Given the description of an element on the screen output the (x, y) to click on. 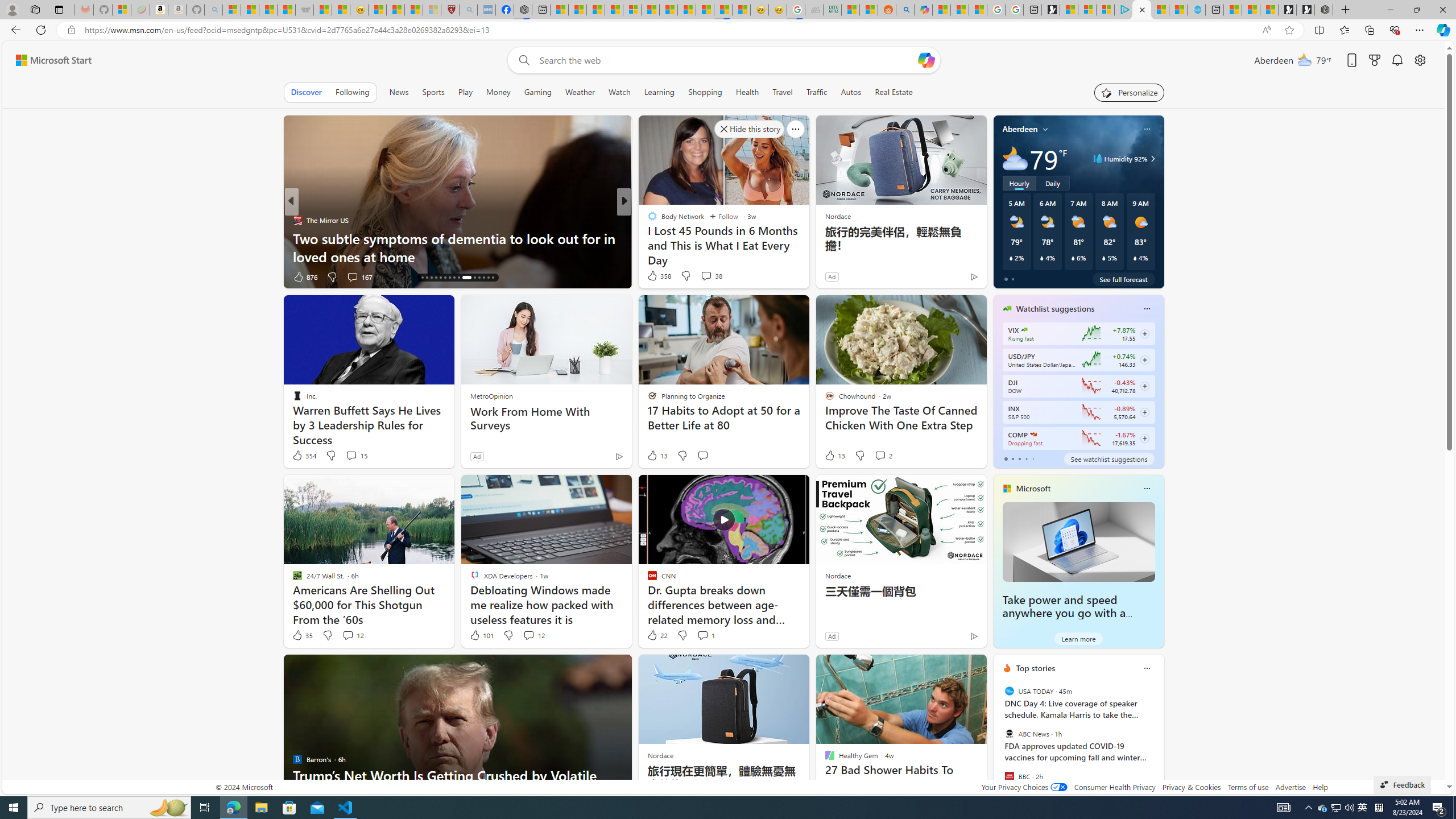
tab-4 (1032, 458)
Discover (306, 92)
Weather (580, 92)
Settings and more (Alt+F) (1419, 29)
New tab (1214, 9)
Deseret News (647, 238)
View comments 104 Comment (709, 276)
View comments 2 Comment (882, 455)
Ad (831, 636)
